Given the description of an element on the screen output the (x, y) to click on. 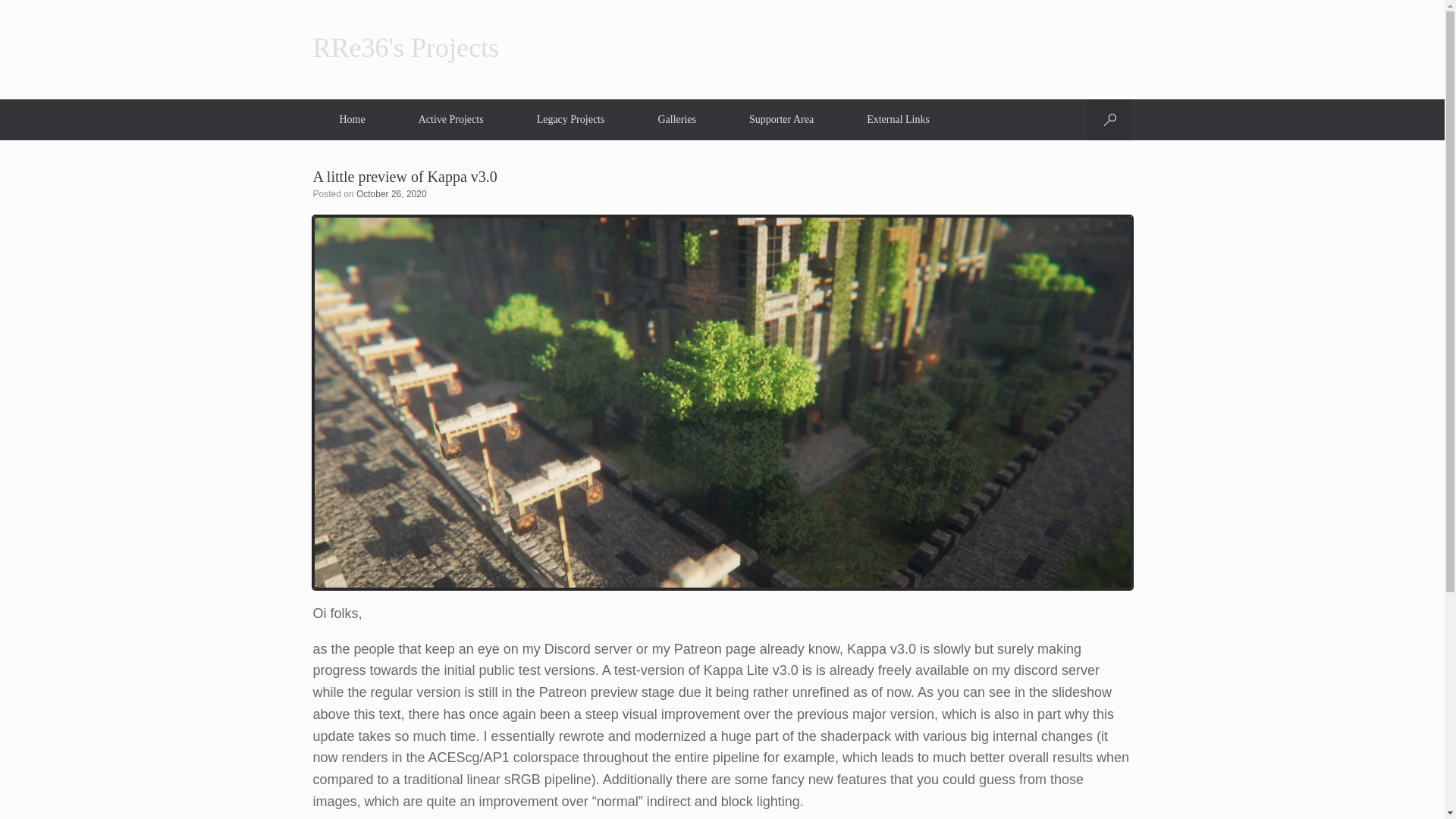
RRe36's Projects (405, 47)
Galleries (676, 119)
RRe36's Projects (405, 47)
09:36 (391, 194)
External Links (898, 119)
Legacy Projects (571, 119)
Active Projects (451, 119)
Home (352, 119)
Supporter Area (781, 119)
October 26, 2020 (391, 194)
